Given the description of an element on the screen output the (x, y) to click on. 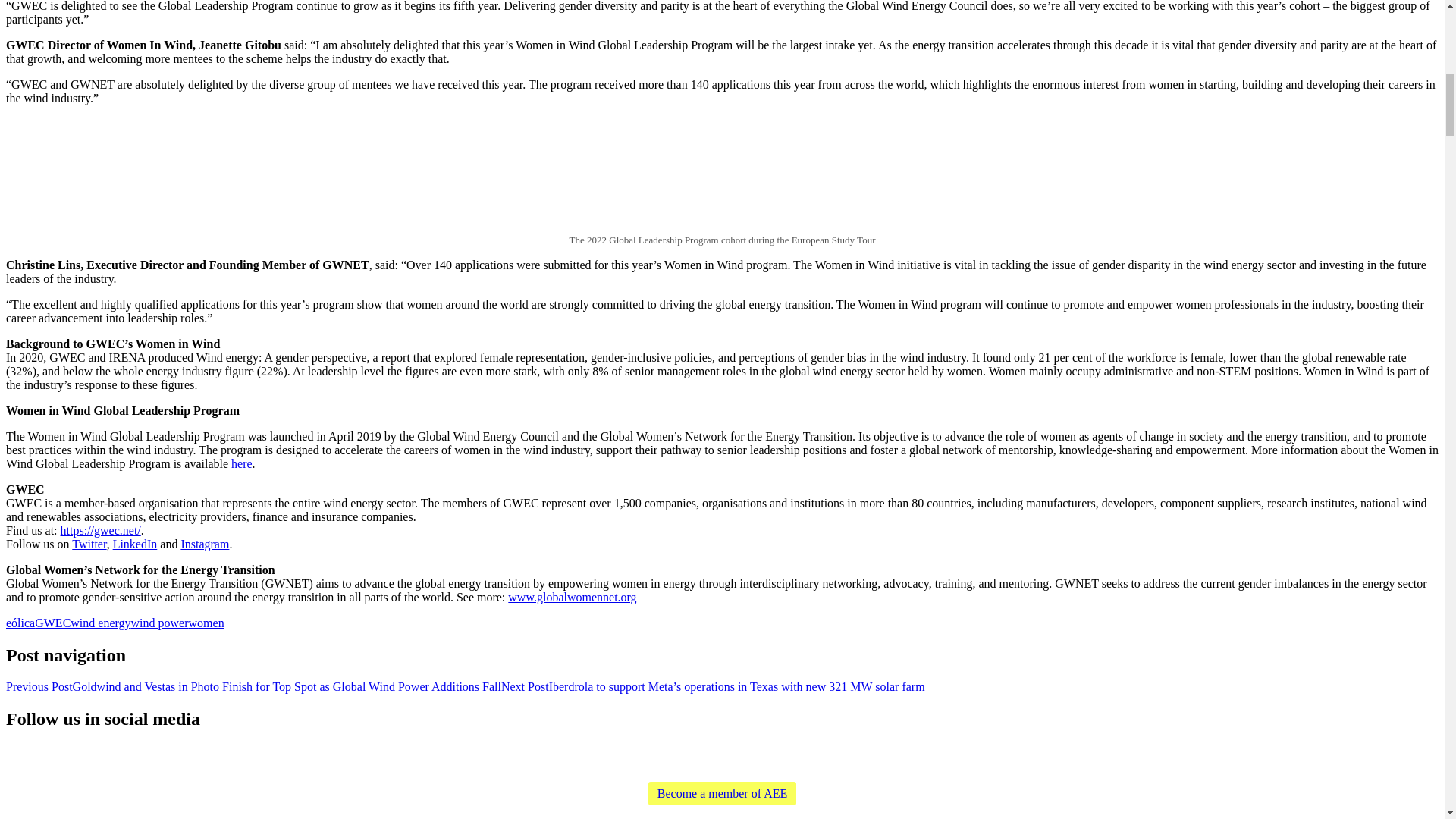
www.globalwomennet.org (572, 596)
Instagram (810, 756)
GWEC (51, 622)
wind power (160, 622)
Tiktok (761, 756)
RSS (639, 756)
youtube (712, 756)
LinkedIn (135, 543)
facebook (688, 756)
